Given the description of an element on the screen output the (x, y) to click on. 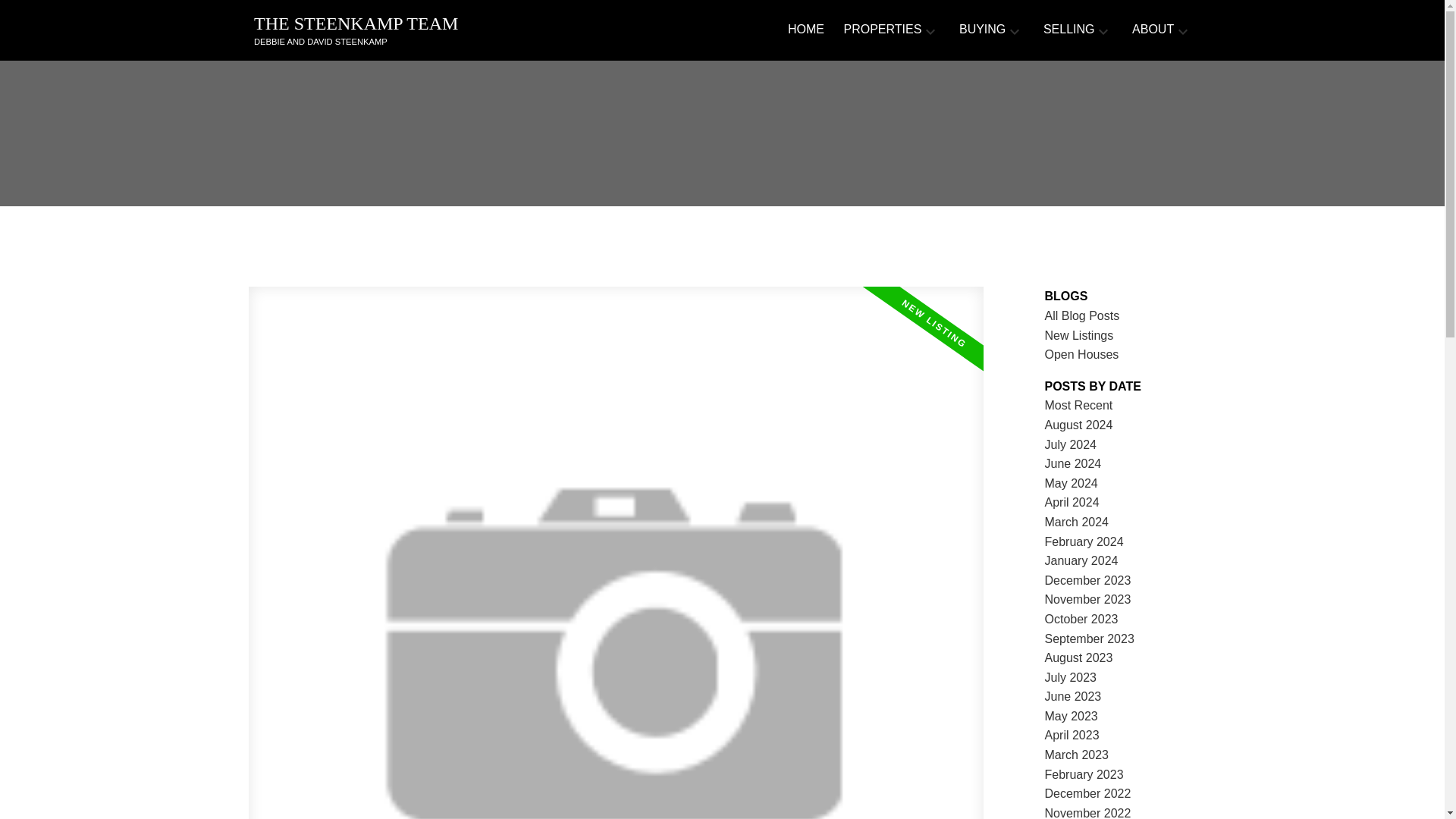
November 2023 (1088, 599)
February 2024 (1084, 541)
January 2024 (1081, 560)
October 2023 (1081, 618)
May 2023 (1071, 716)
All Blog Posts (1082, 315)
Most Recent (1079, 404)
New Listings (1079, 335)
August 2024 (1079, 424)
July 2024 (1071, 444)
